Given the description of an element on the screen output the (x, y) to click on. 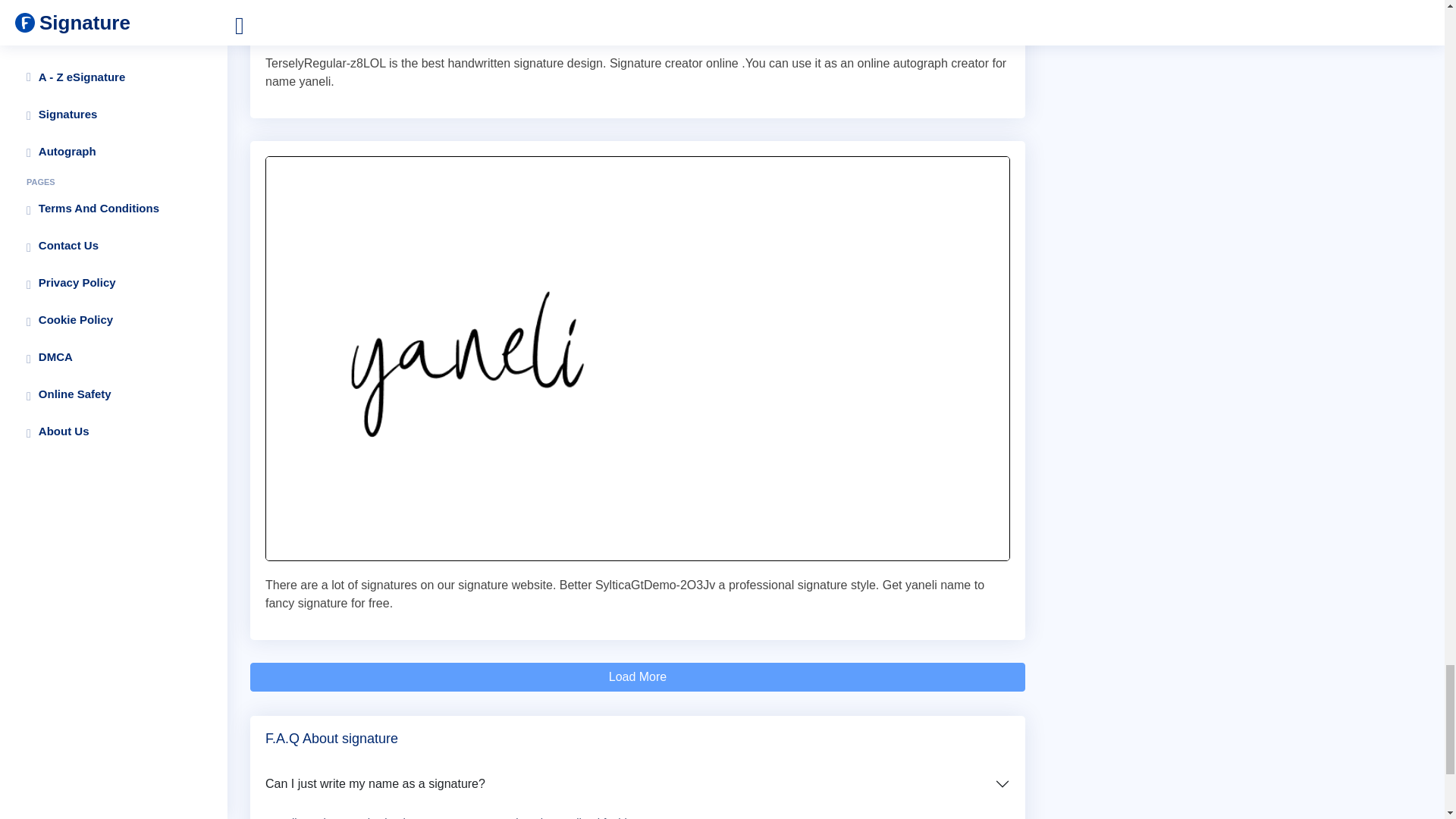
Load More (637, 676)
Can I just write my name as a signature? (637, 783)
Load more posts (637, 676)
